Given the description of an element on the screen output the (x, y) to click on. 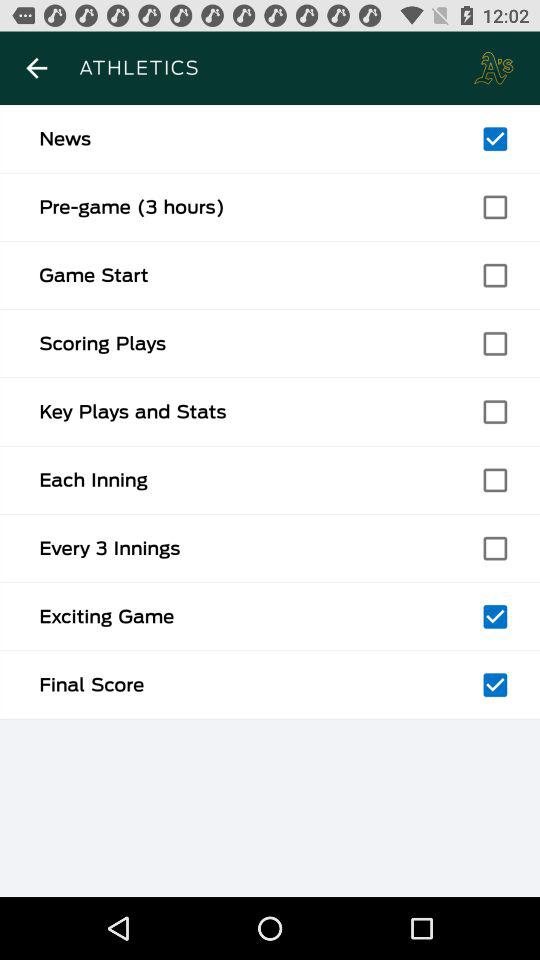
check game start notification (495, 275)
